Given the description of an element on the screen output the (x, y) to click on. 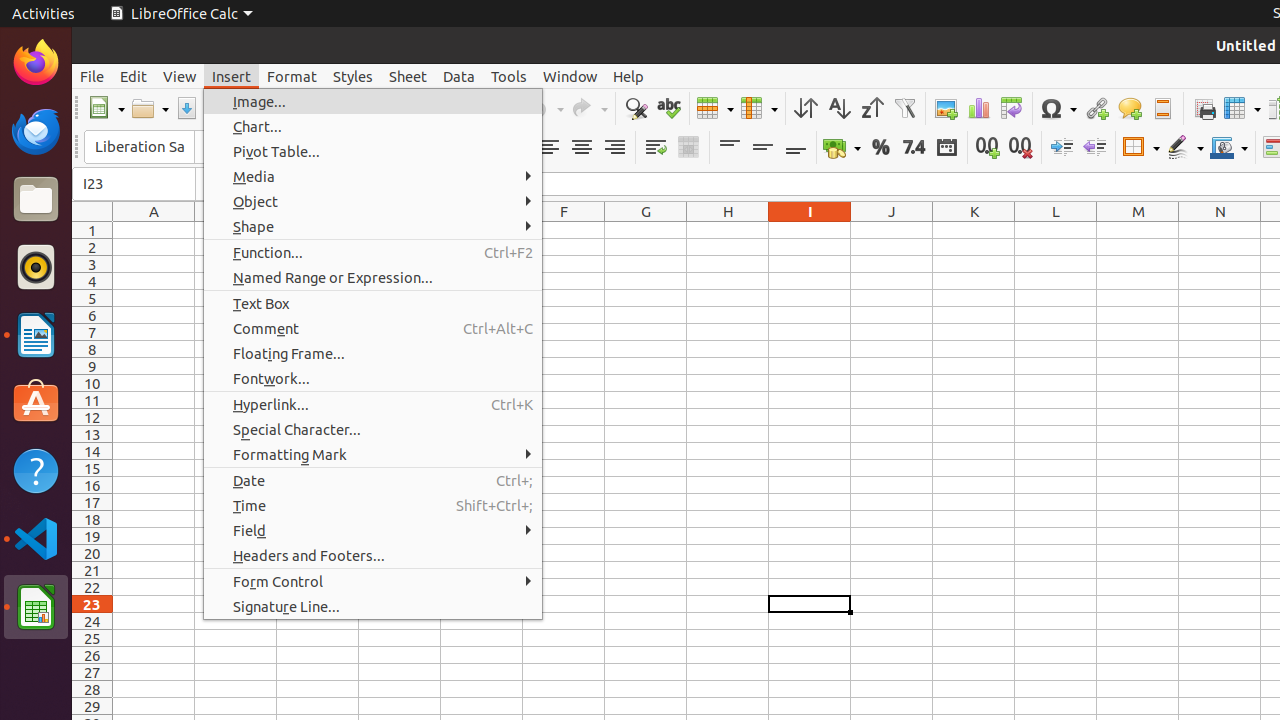
Media Element type: menu (373, 176)
K1 Element type: table-cell (974, 230)
Freeze Rows and Columns Element type: push-button (1242, 108)
LibreOffice Calc Element type: menu (181, 13)
